Given the description of an element on the screen output the (x, y) to click on. 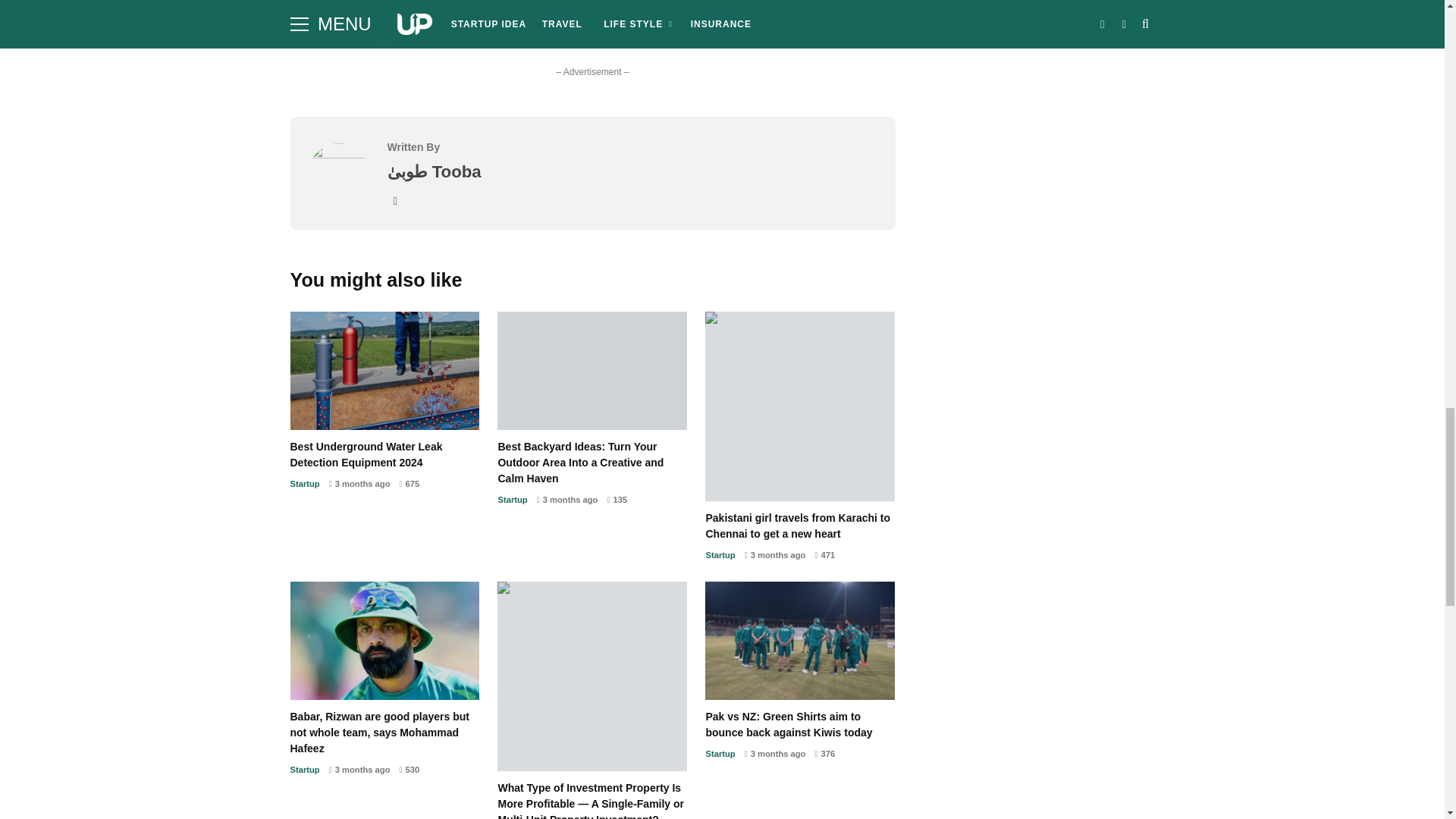
Startup (512, 499)
Best Underground Water Leak Detection Equipment 2024 (384, 454)
Best Underground Water Leak Detection Equipment 2024 (384, 370)
Startup (303, 483)
Source link (319, 22)
